Given the description of an element on the screen output the (x, y) to click on. 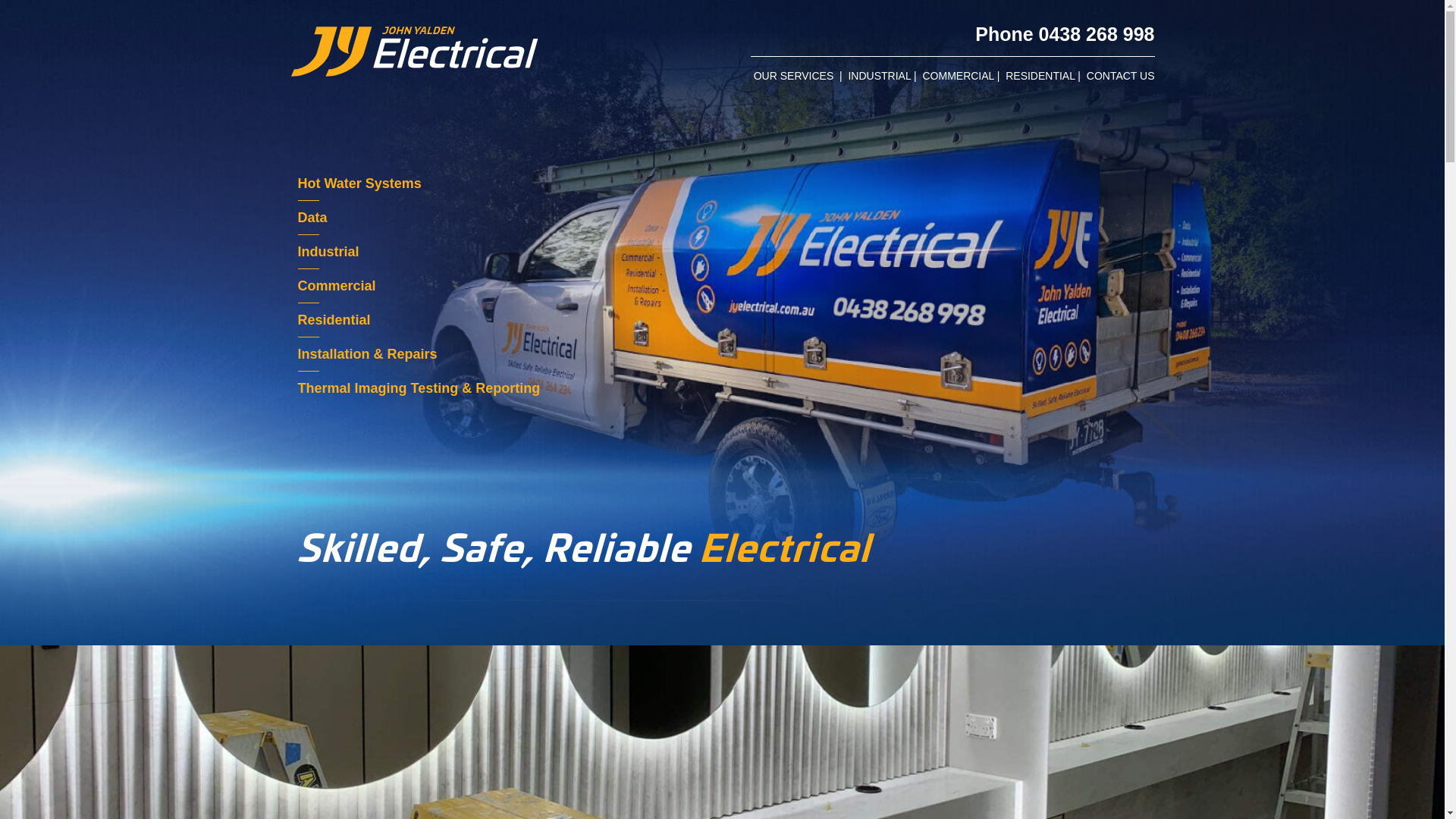
Phone 0438 268 998 Element type: text (1064, 33)
OUR SERVICES Element type: text (793, 75)
Data Element type: text (311, 217)
Industrial Element type: text (327, 251)
RESIDENTIAL Element type: text (1039, 75)
Thermal Imaging Testing & Reporting Element type: text (418, 387)
CONTACT US Element type: text (1120, 75)
INDUSTRIAL Element type: text (878, 75)
Hot Water Systems Element type: text (358, 183)
Commercial Element type: text (336, 285)
Installation & Repairs Element type: text (366, 353)
Residential Element type: text (333, 319)
COMMERCIAL Element type: text (957, 75)
